Given the description of an element on the screen output the (x, y) to click on. 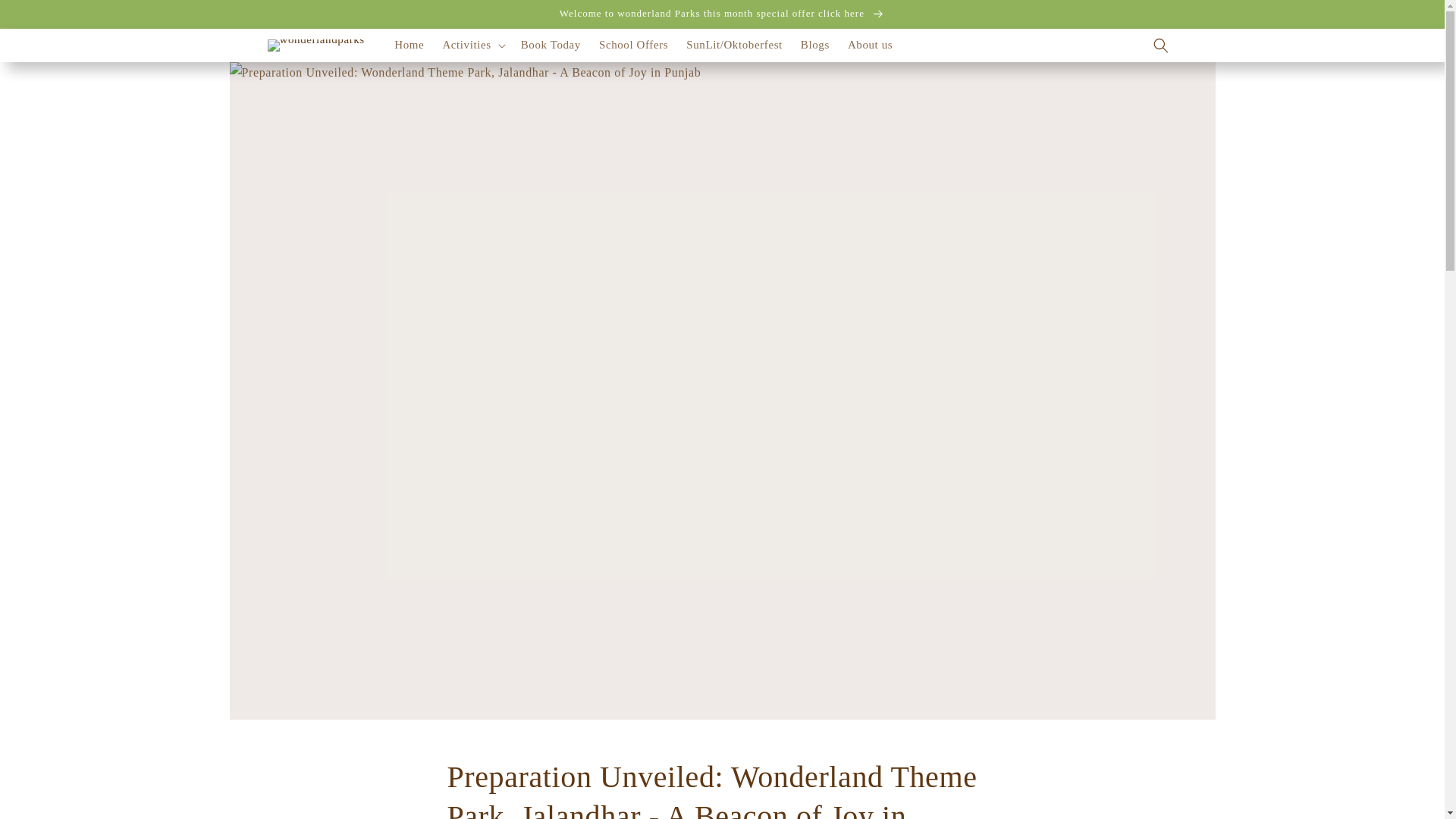
Home (408, 45)
Skip to content (45, 17)
Book Today (550, 45)
Blogs (815, 45)
About us (869, 45)
School Offers (633, 45)
